Given the description of an element on the screen output the (x, y) to click on. 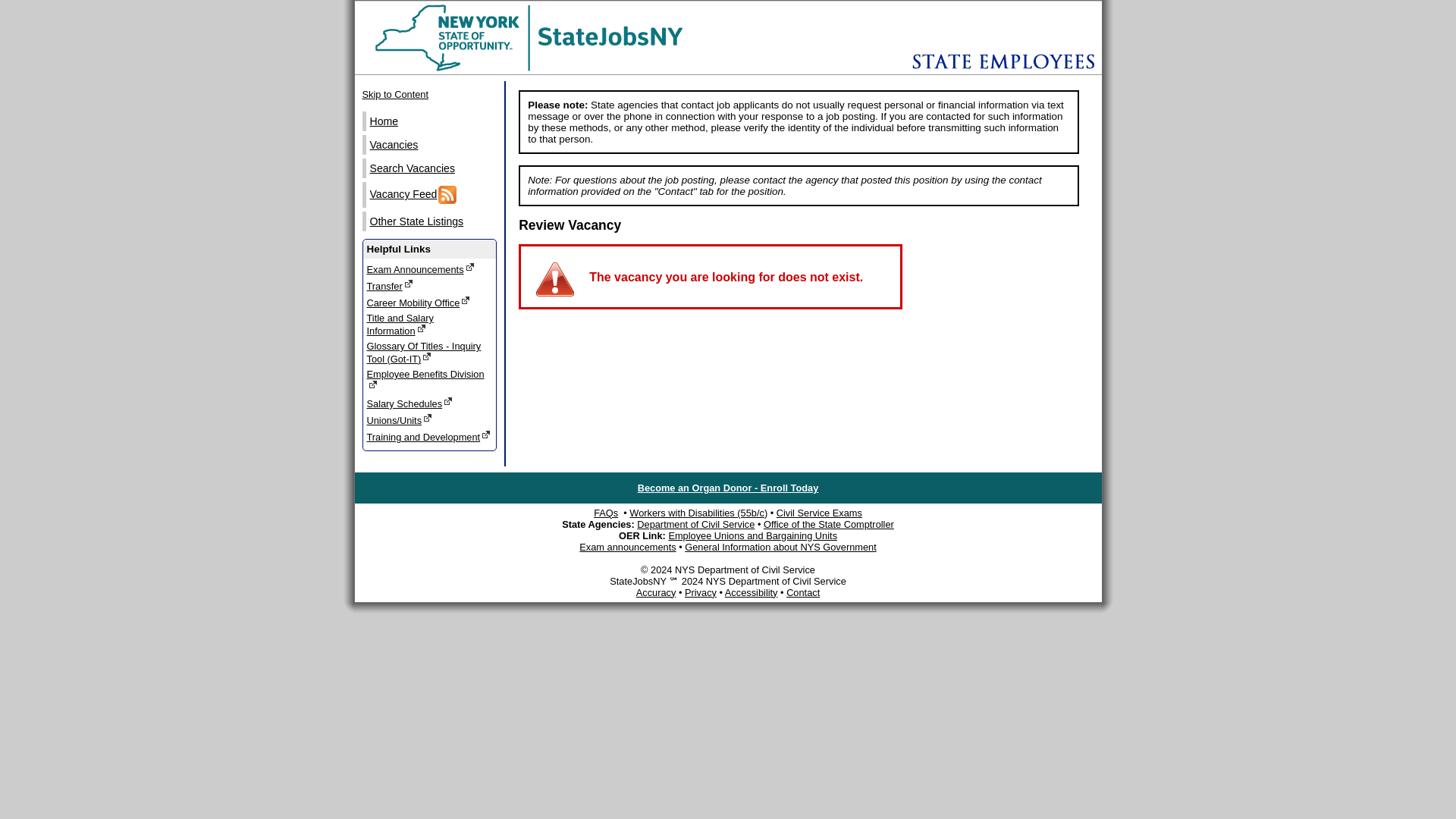
Employee Benefits Division (429, 380)
Salary Schedules (429, 402)
Become an Organ Donor - Enroll Today (727, 487)
Department of Civil Service (695, 523)
General Information about NYS Government (780, 546)
Employee Unions and Bargaining Units (752, 535)
Accuracy (656, 592)
Skip to Content (429, 93)
Civil Service Exams (429, 324)
Search Vacancies (818, 512)
Exam Announcements (430, 168)
Career Mobility Office (429, 268)
Link to StateJobsNY home page (429, 301)
Accessibility (548, 70)
